Given the description of an element on the screen output the (x, y) to click on. 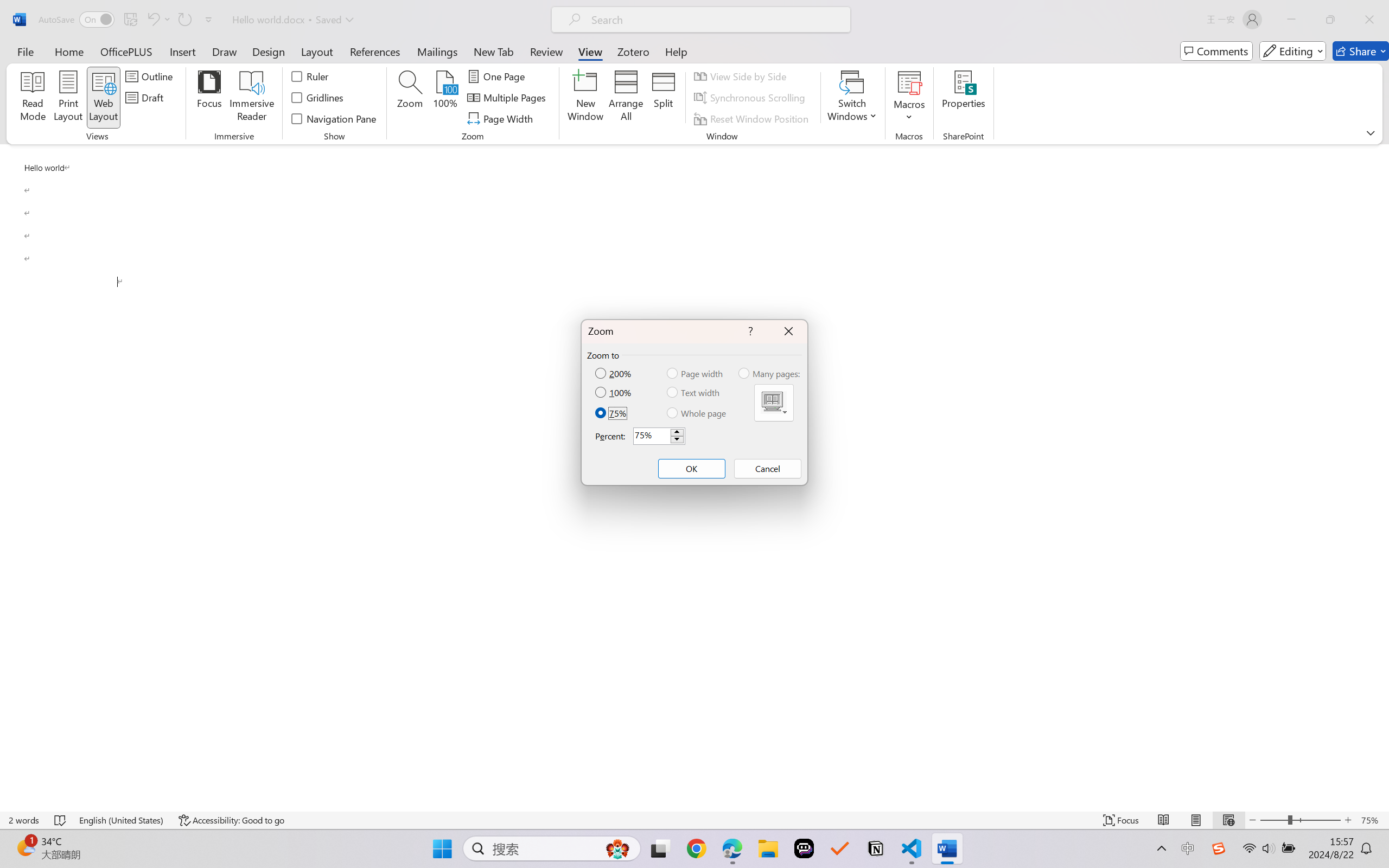
Class: NetUIScrollBar (1382, 477)
Class: MsoCommandBar (694, 819)
Zoom 75% (1372, 819)
More Options (909, 112)
Class: Image (1218, 847)
75% (611, 412)
Home (69, 51)
MSO Generic Control Container (774, 402)
Percent: (658, 435)
Undo Paragraph Formatting (152, 19)
